Given the description of an element on the screen output the (x, y) to click on. 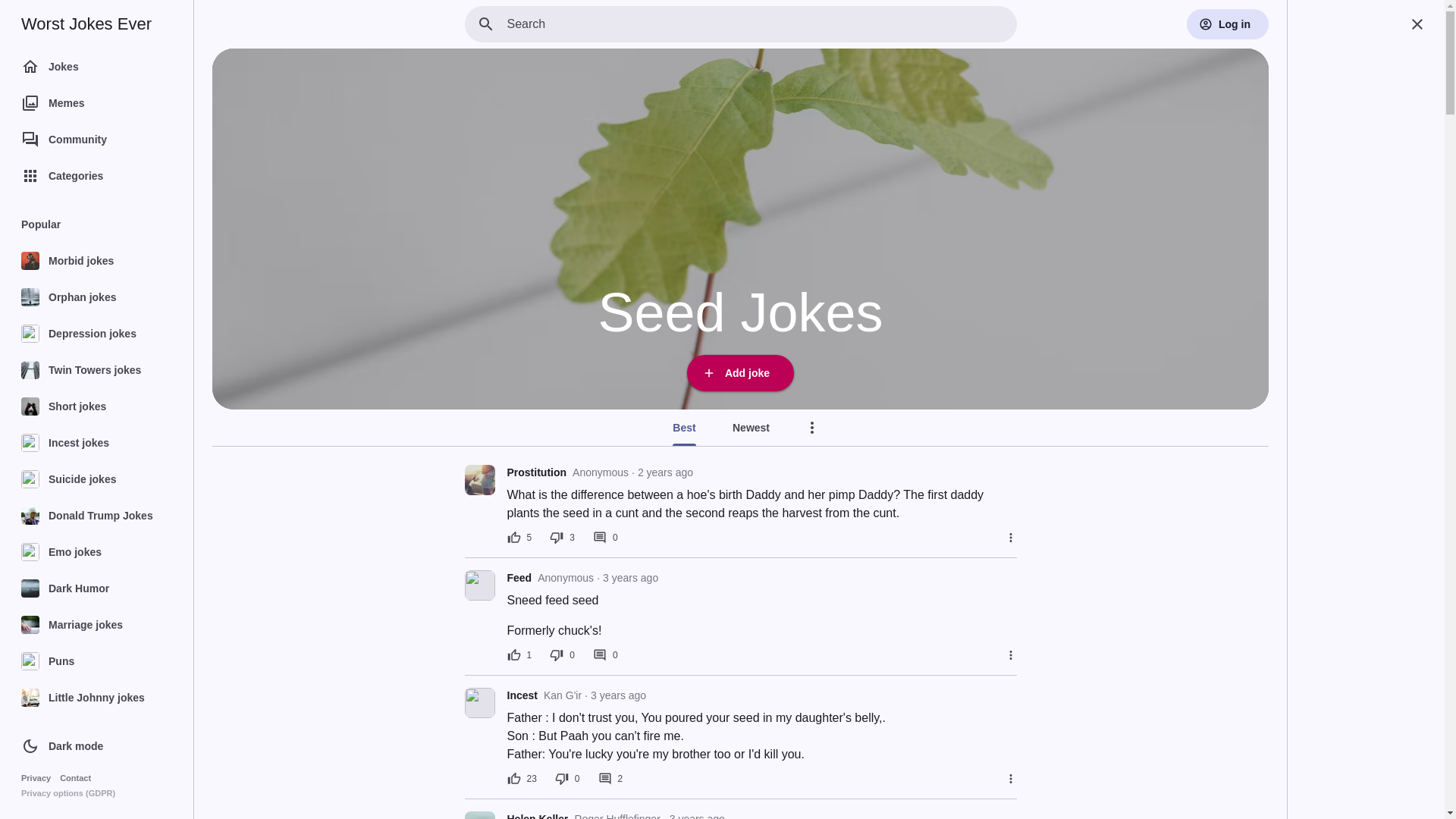
Privacy (35, 777)
Memes (93, 103)
Jokes (93, 66)
Incest jokes (93, 443)
Priest jokes (93, 733)
Contact (74, 777)
Worst Jokes Ever (86, 23)
Short jokes (93, 406)
Morbid jokes (93, 260)
Difference jokes (93, 803)
Marriage jokes (93, 624)
Little Johnny jokes (93, 697)
Dark mode (64, 746)
Orphan jokes (93, 297)
Twin Towers jokes (93, 370)
